Given the description of an element on the screen output the (x, y) to click on. 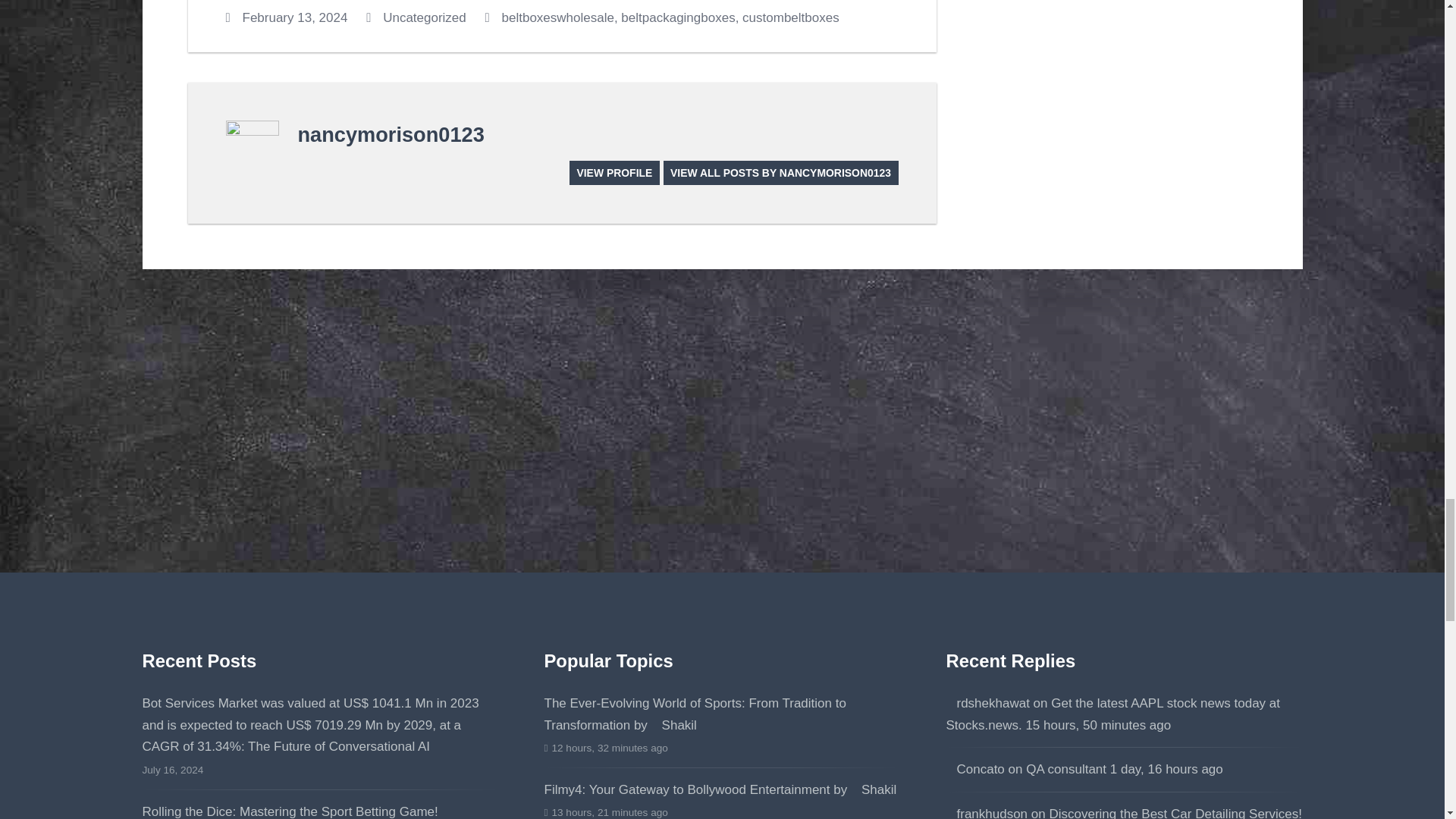
Uncategorized (423, 17)
beltpackagingboxes (678, 17)
View Concato's profile (975, 769)
View Shakil's profile (873, 789)
nancymorison0123 (390, 134)
custombeltboxes (791, 17)
View frankhudson's profile (986, 812)
View rdshekhawat's profile (987, 703)
VIEW ALL POSTS BY NANCYMORISON0123 (780, 172)
View Shakil's profile (673, 725)
VIEW PROFILE (614, 172)
beltboxeswholesale (558, 17)
